Given the description of an element on the screen output the (x, y) to click on. 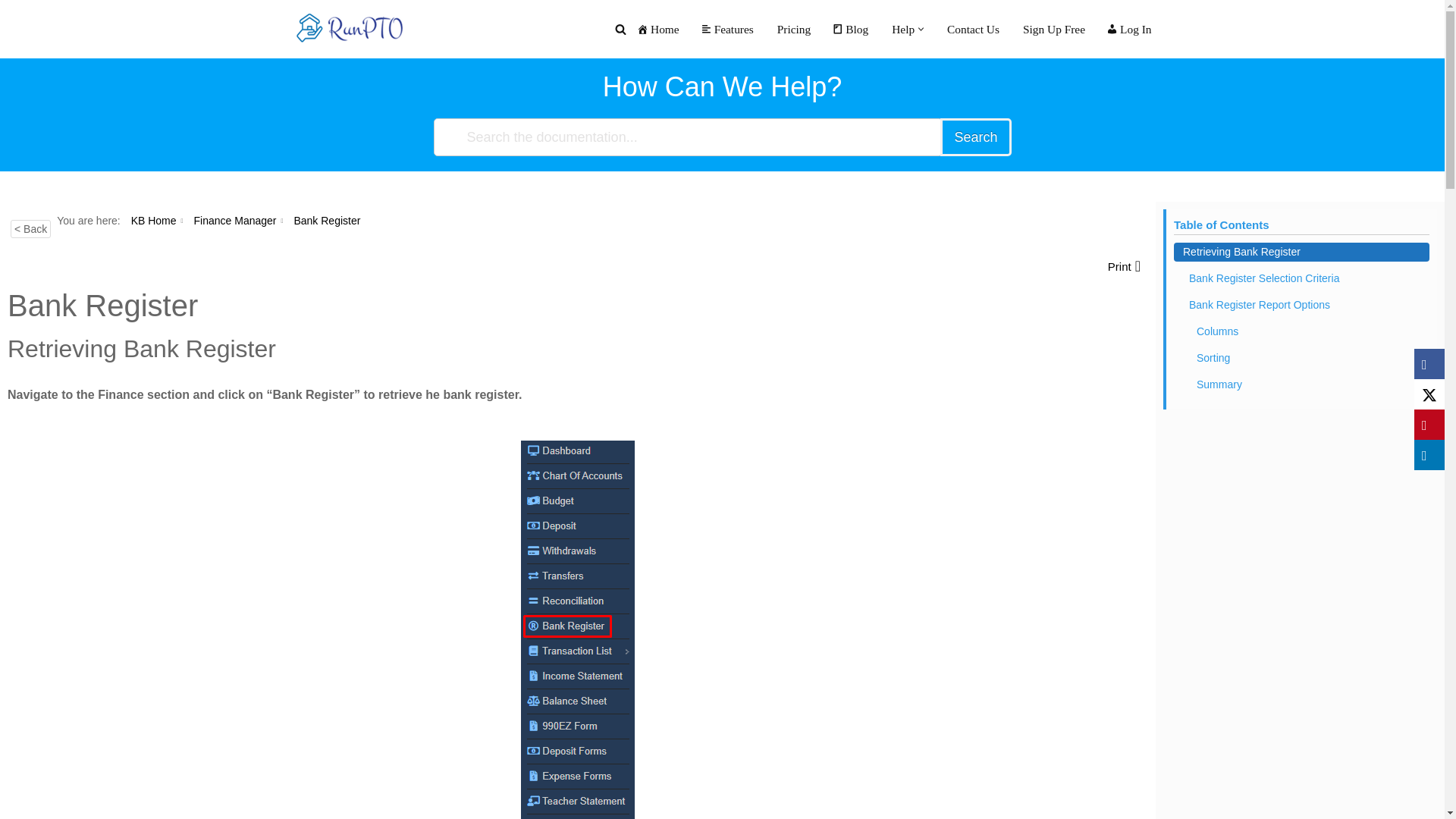
Features (727, 29)
Skip to content (11, 31)
Help (901, 29)
Sign Up Free (1052, 29)
Contact Us (971, 29)
Log In (1128, 29)
Blog (849, 29)
Home (658, 29)
Pricing (792, 29)
